Given the description of an element on the screen output the (x, y) to click on. 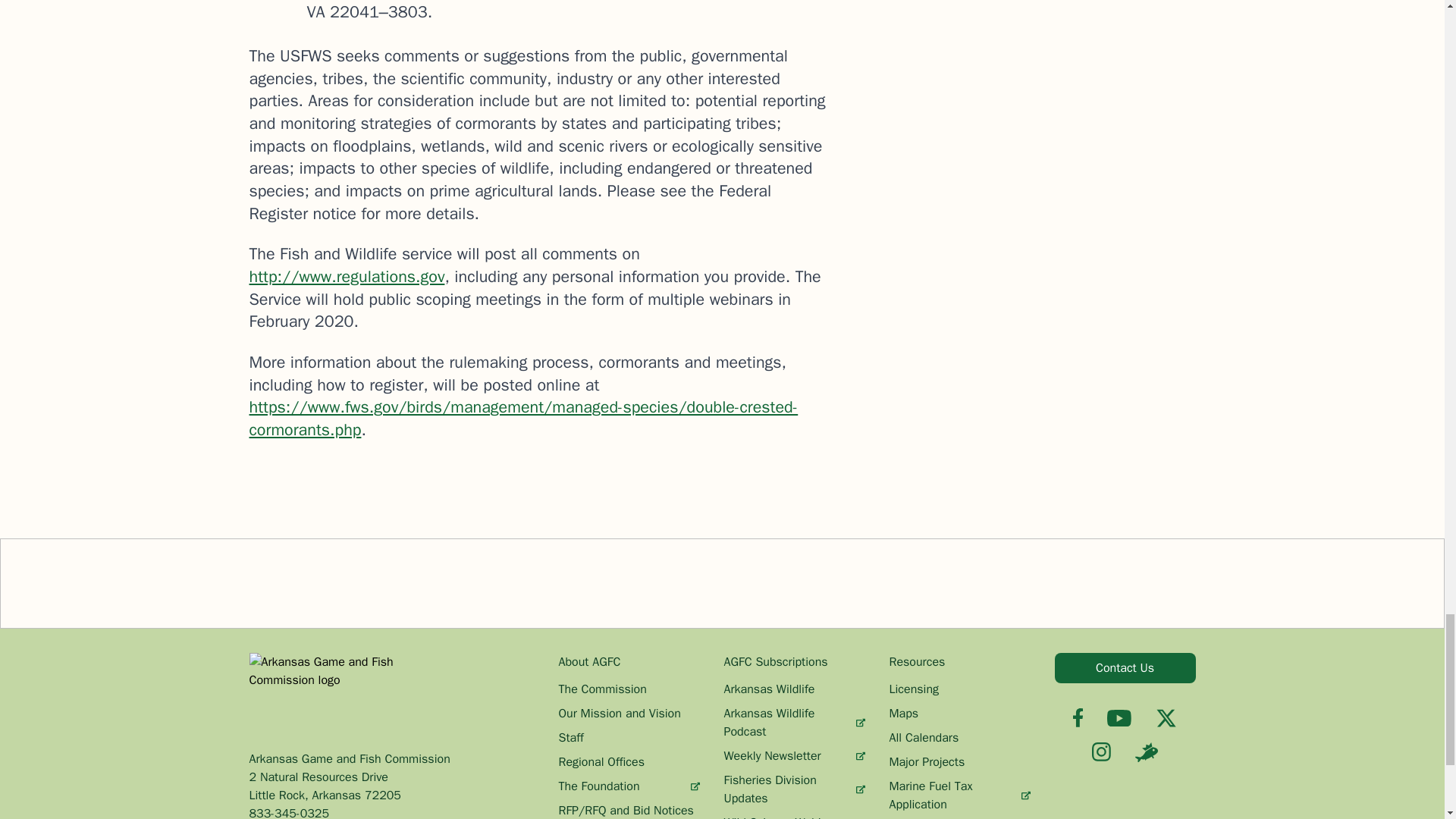
Fishbrain (1146, 752)
Instagram (1101, 751)
YouTube (1118, 718)
Twitter (1166, 717)
